Given the description of an element on the screen output the (x, y) to click on. 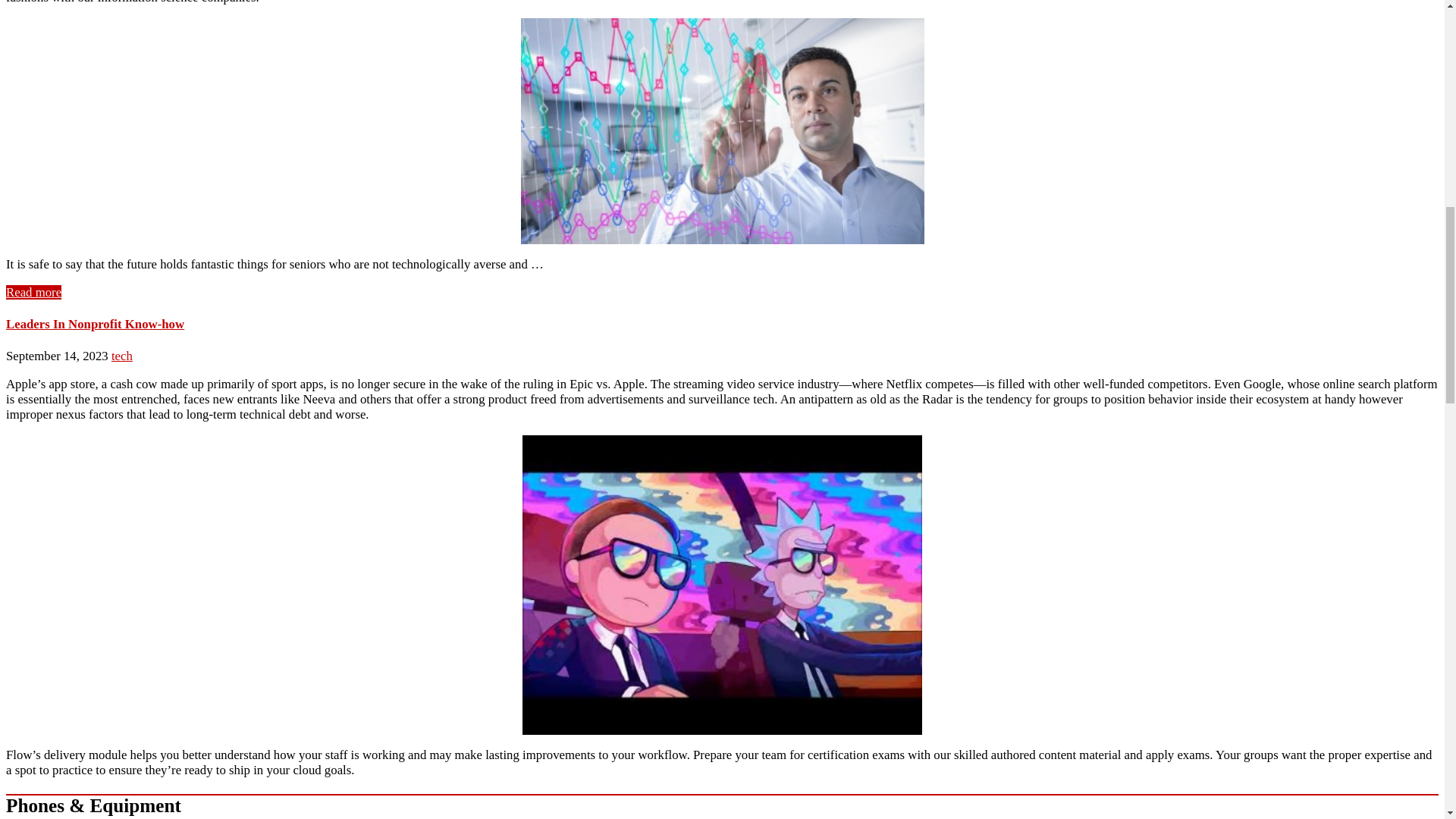
tech (122, 355)
Read more (33, 292)
Leaders In Nonprofit Know-how (94, 323)
